Given the description of an element on the screen output the (x, y) to click on. 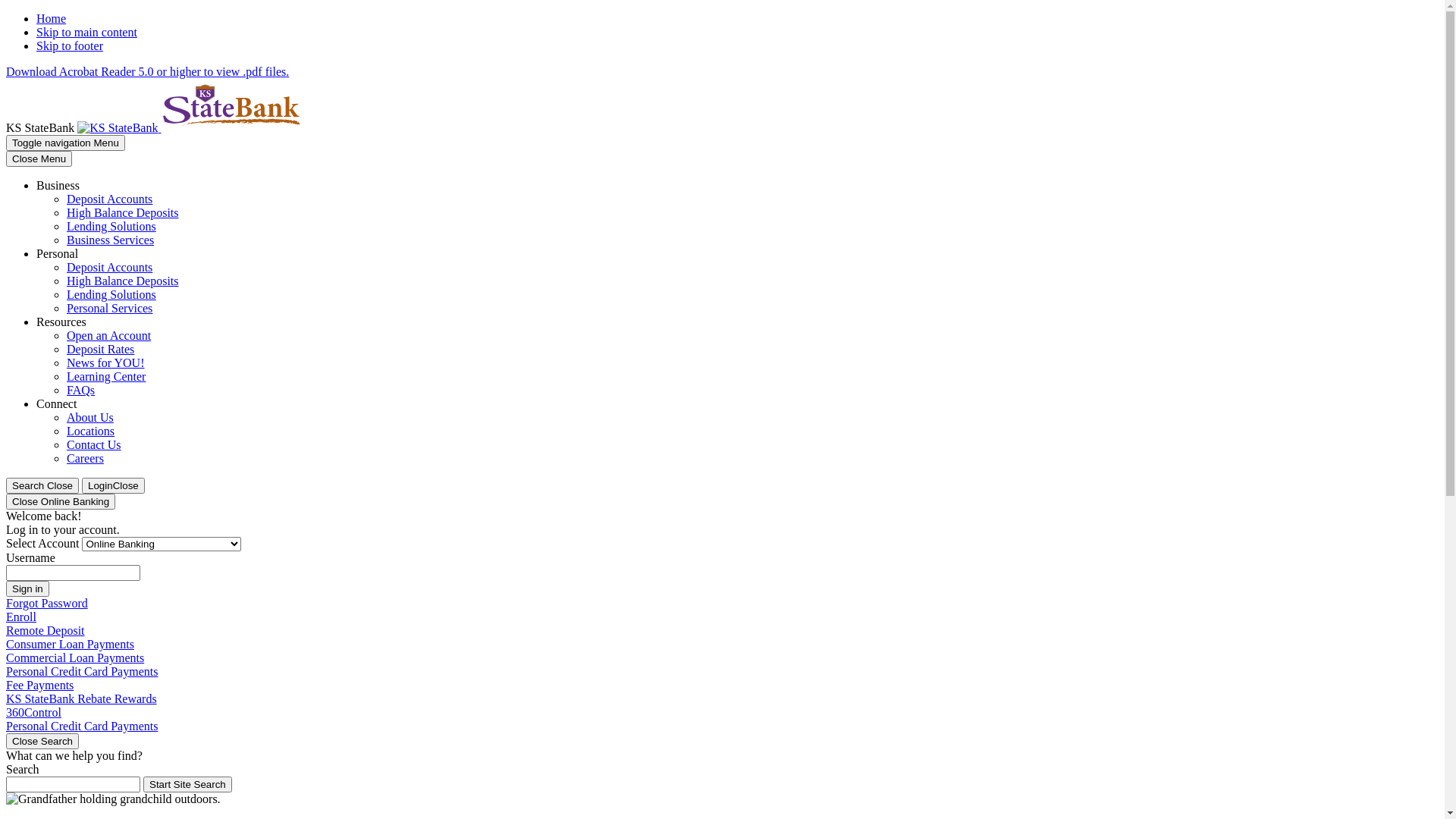
Close Search Element type: text (42, 741)
Deposit Accounts Element type: text (109, 266)
Open an Account Element type: text (108, 335)
Learning Center Element type: text (105, 376)
Search Close Element type: text (42, 485)
Download Acrobat Reader 5.0 or higher to view .pdf files. Element type: text (147, 71)
Skip to footer Element type: text (69, 45)
Commercial Loan Payments Element type: text (75, 657)
LoginClose Element type: text (112, 485)
High Balance Deposits Element type: text (122, 212)
Personal Credit Card Payments Element type: text (81, 671)
Contact Us Element type: text (93, 444)
Toggle navigation Menu Element type: text (65, 142)
FAQs Element type: text (80, 389)
Lending Solutions Element type: text (111, 294)
Careers Element type: text (84, 457)
Consumer Loan Payments Element type: text (70, 643)
Lending Solutions Element type: text (111, 225)
KS StateBank Rebate Rewards Element type: text (81, 698)
Deposit Rates Element type: text (100, 348)
News for YOU! Element type: text (105, 362)
360Control Element type: text (33, 712)
Personal Credit Card Payments Element type: text (81, 725)
Skip to main content Element type: text (86, 31)
High Balance Deposits Element type: text (122, 280)
Start Site Search Element type: text (187, 784)
Home Element type: text (50, 18)
Remote Deposit Element type: text (45, 630)
KS StateBank, Manhattan, KS Element type: hover (188, 127)
Locations Element type: text (90, 430)
Forgot Password Element type: text (46, 602)
Sign in Element type: text (27, 588)
About Us Element type: text (89, 417)
Close Menu Element type: text (39, 158)
Fee Payments Element type: text (39, 684)
Personal Services Element type: text (109, 307)
Deposit Accounts Element type: text (109, 198)
Business Services Element type: text (109, 239)
Close Online Banking Element type: text (60, 501)
Enroll Element type: text (21, 616)
